Given the description of an element on the screen output the (x, y) to click on. 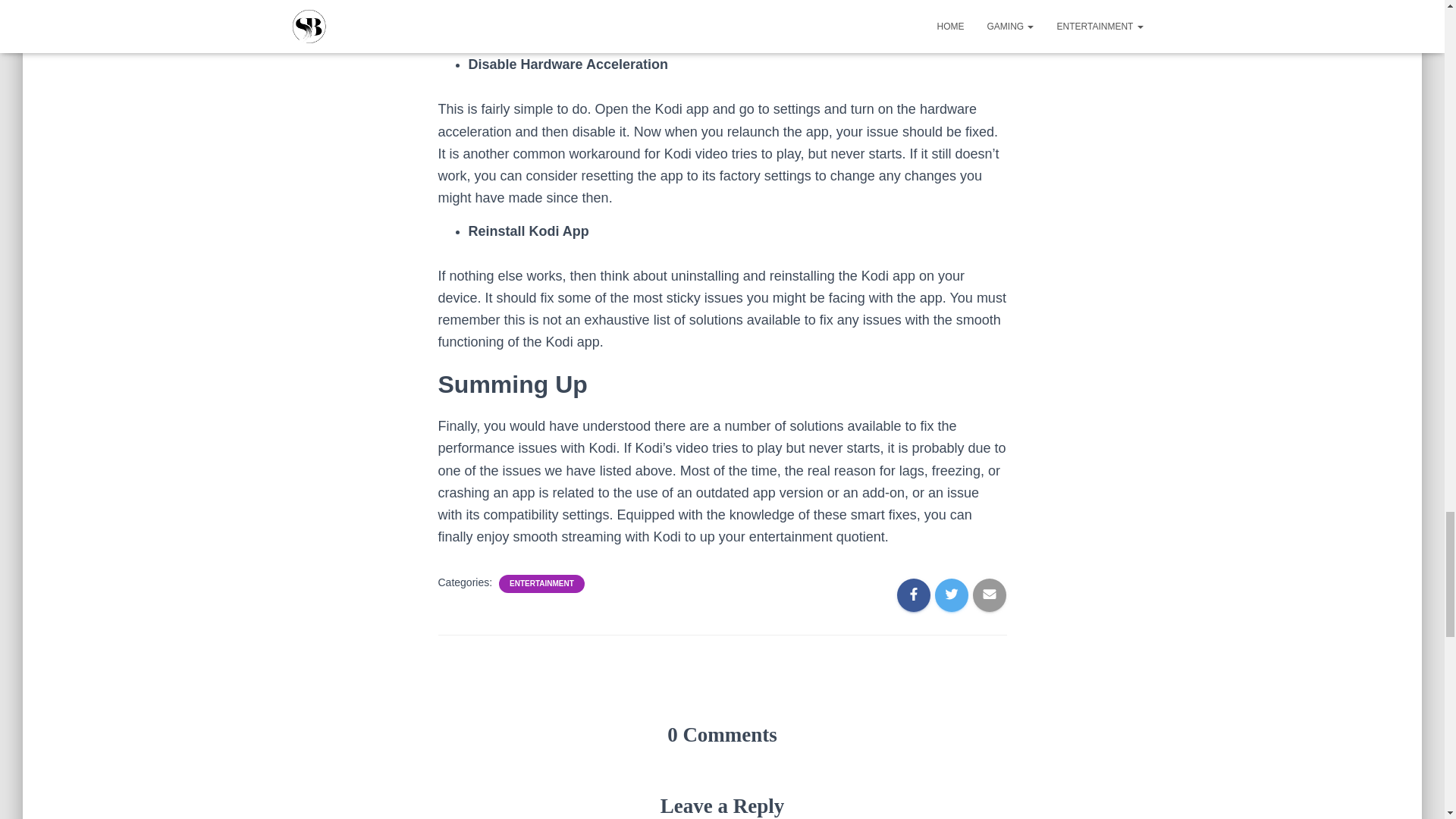
ENTERTAINMENT (541, 583)
